Given the description of an element on the screen output the (x, y) to click on. 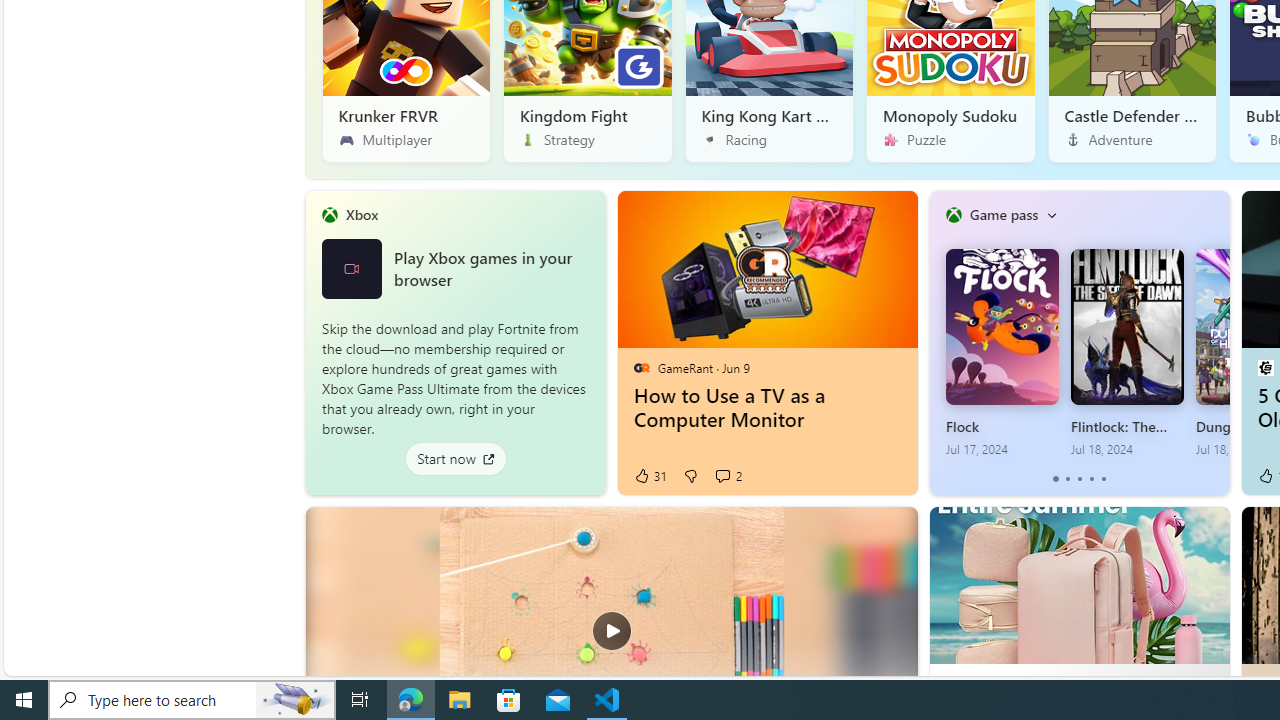
View comments 2 Comment (722, 475)
tab-0 (1055, 479)
Hide this story (887, 536)
Select Category (1051, 214)
tab-4 (1102, 479)
31 Like (649, 475)
Xbox Logo (351, 268)
Flintlock: The Siege of Dawn Jul 18, 2024 (1127, 353)
tab-1 (1067, 479)
Class: previous-flipper (939, 342)
tab-3 (1091, 479)
Class: next-flipper (1218, 342)
